Given the description of an element on the screen output the (x, y) to click on. 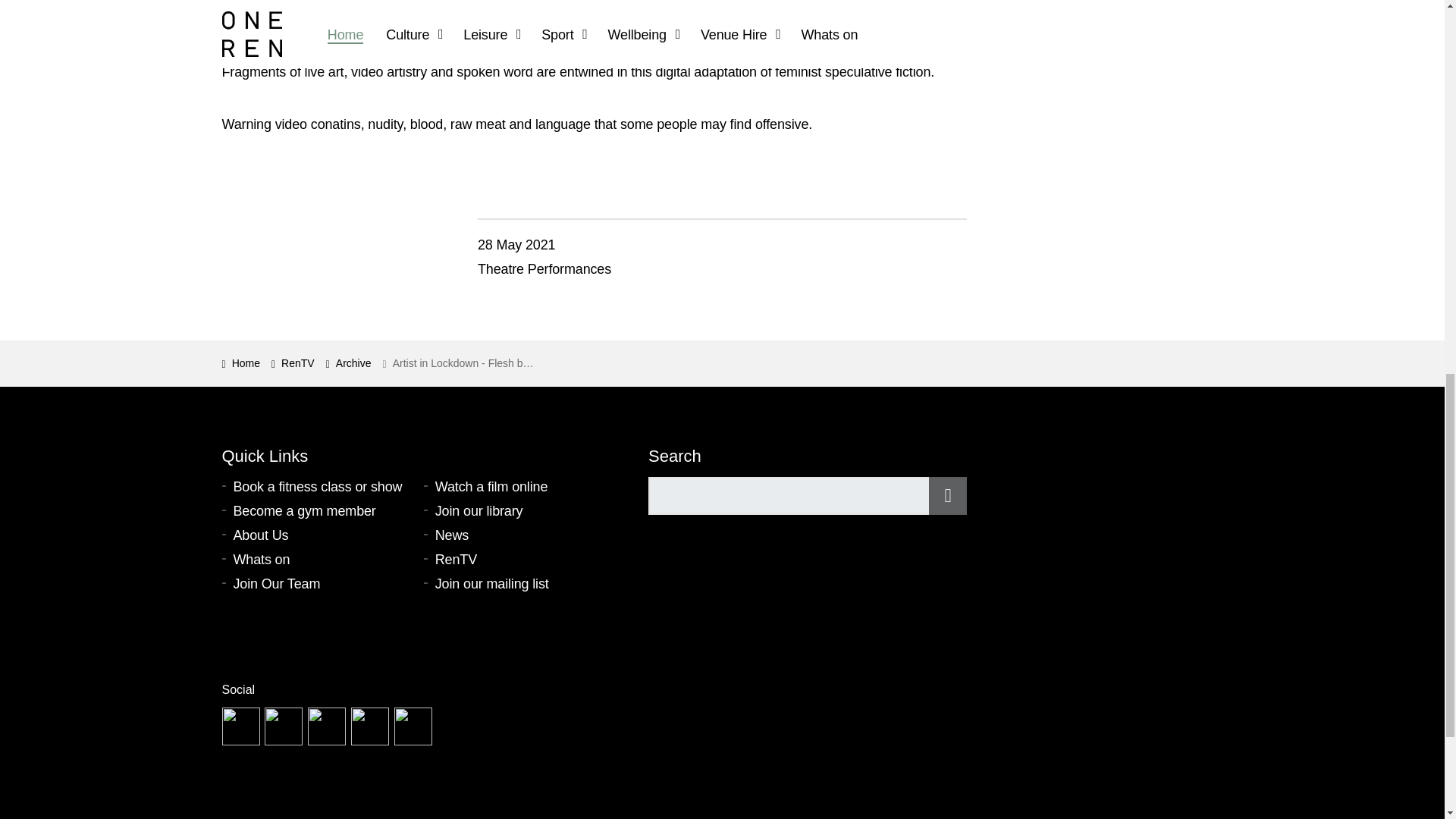
RenTV (292, 363)
Home (240, 363)
Theatre Performances (544, 268)
Theatre Performances (544, 268)
Archive (348, 363)
Book a fitness class or show (322, 486)
